Given the description of an element on the screen output the (x, y) to click on. 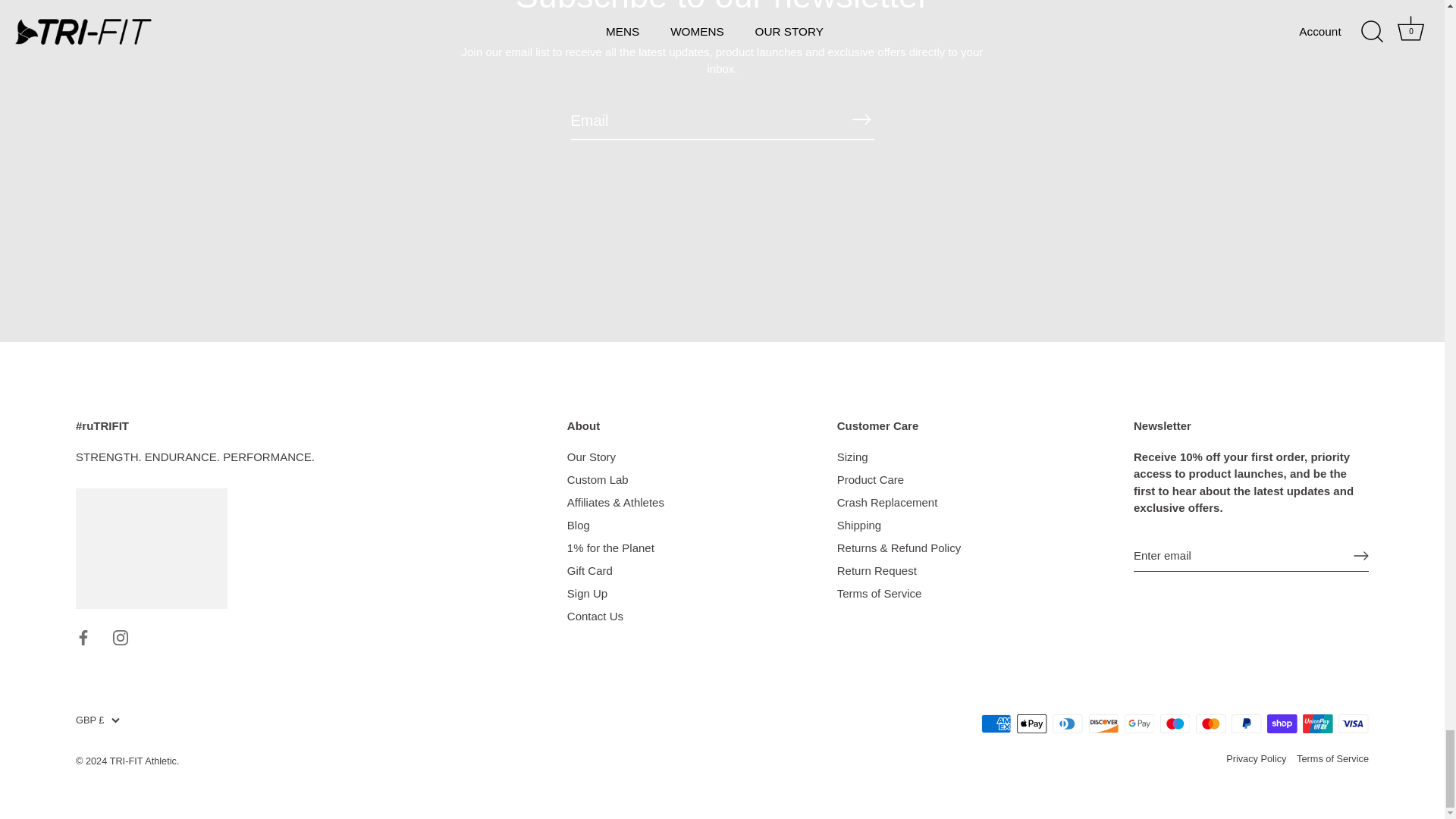
American Express (996, 723)
Apple Pay (1031, 723)
Discover (1104, 723)
PayPal (1245, 723)
RIGHT ARROW LONG (1361, 555)
Instagram (120, 637)
Mastercard (1210, 723)
Diners Club (1067, 723)
Shop Pay (1281, 723)
Maestro (1174, 723)
